Given the description of an element on the screen output the (x, y) to click on. 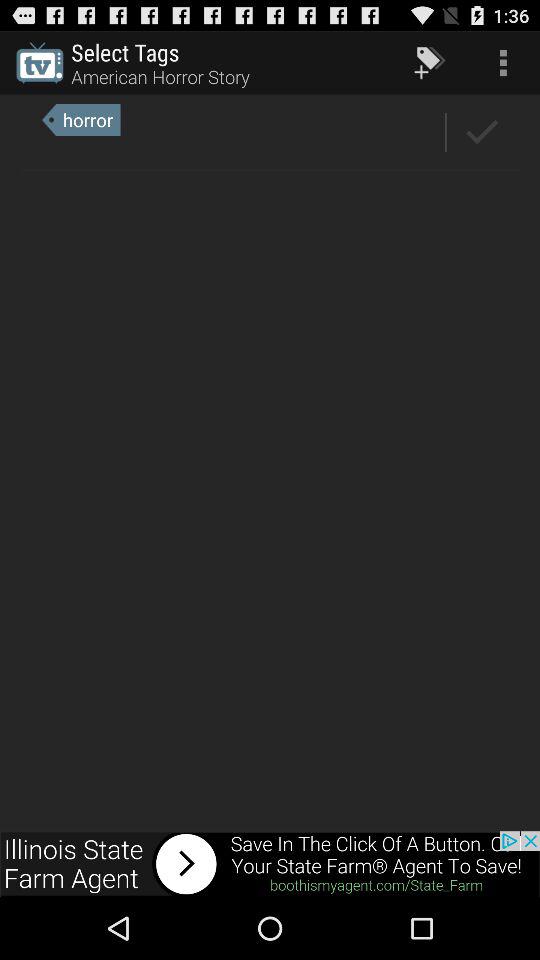
ok (481, 132)
